Given the description of an element on the screen output the (x, y) to click on. 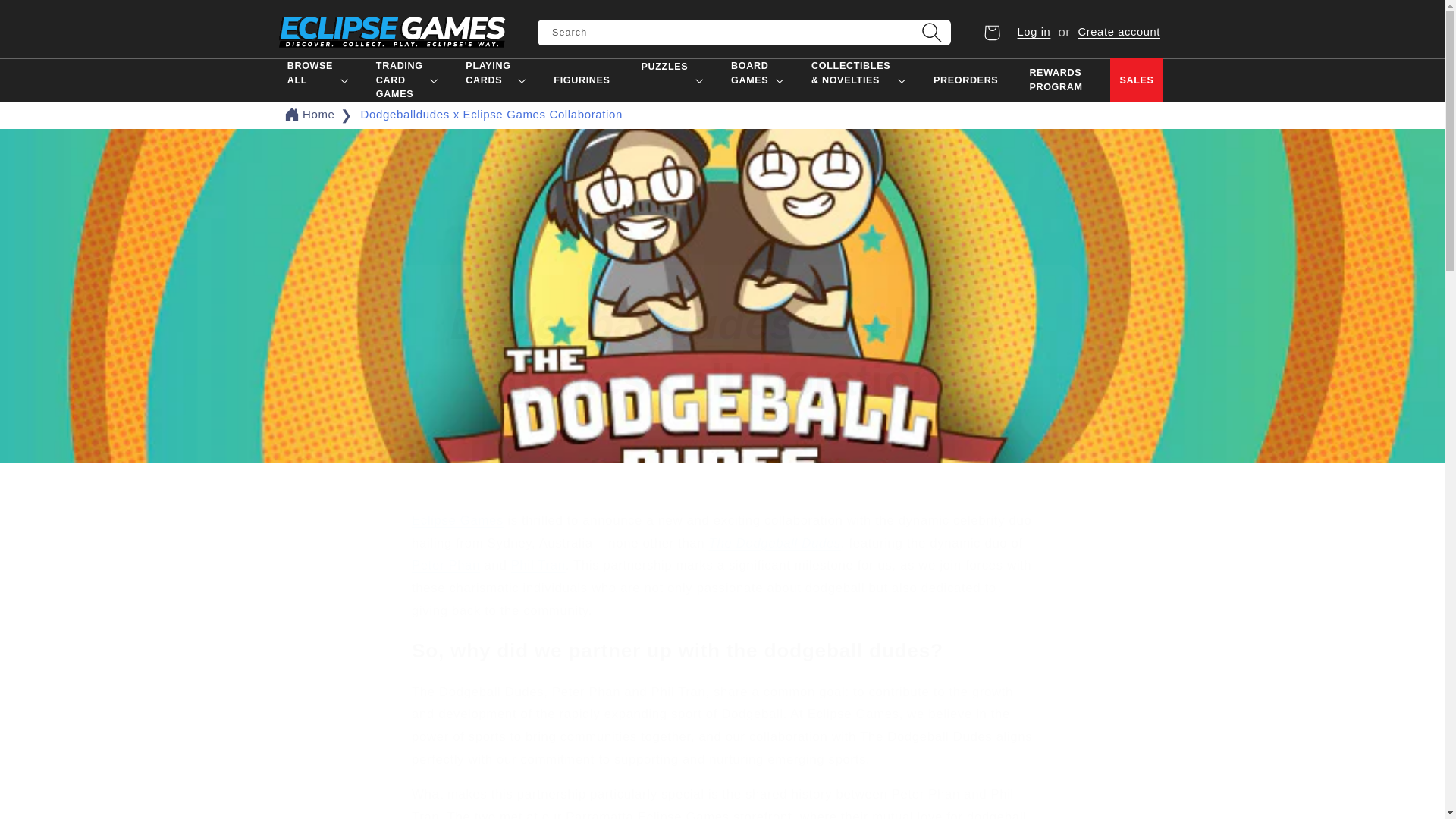
Home (318, 113)
Skip to content (48, 18)
